Given the description of an element on the screen output the (x, y) to click on. 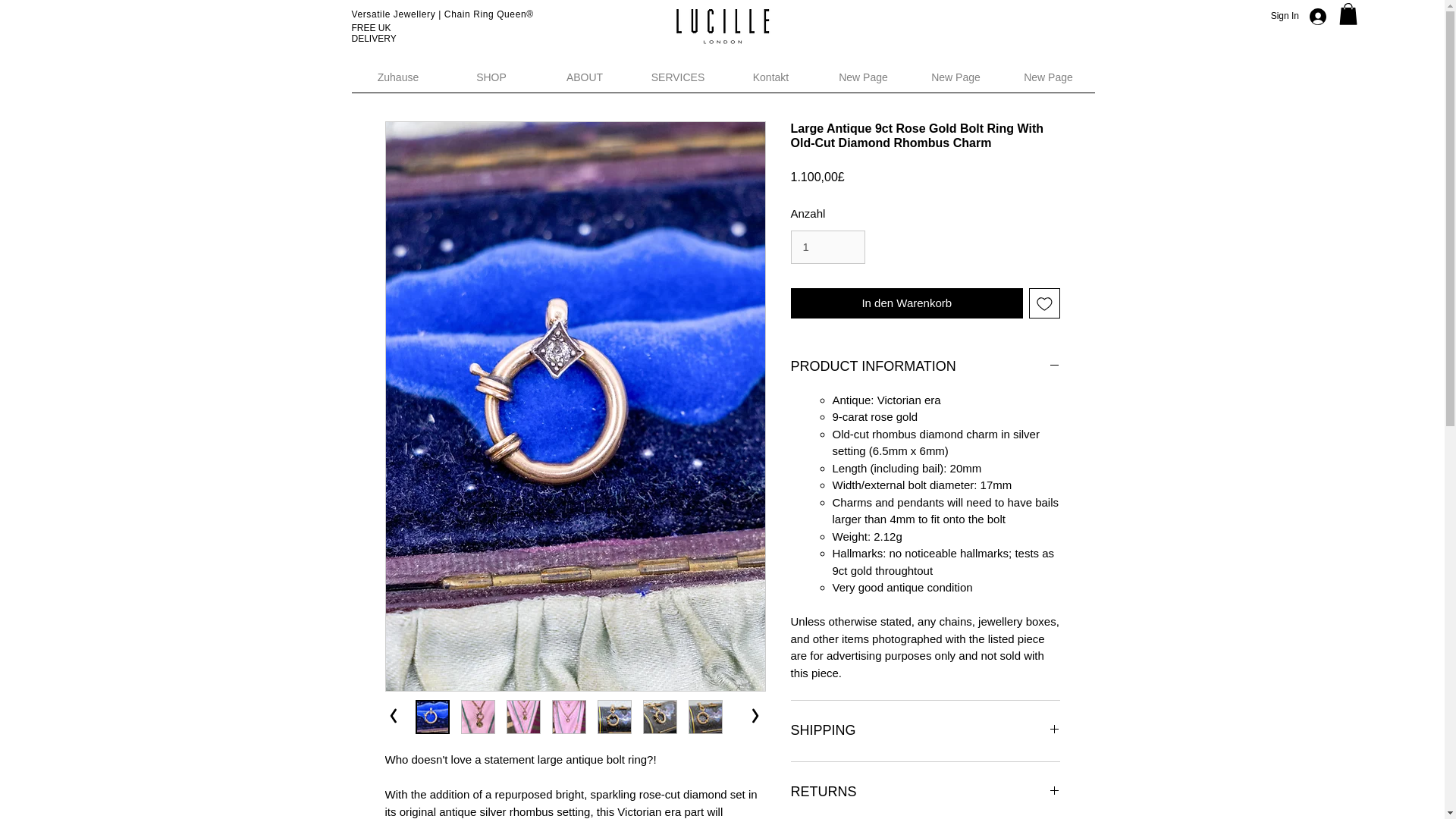
Zuhause (398, 82)
Kontakt (770, 82)
New Page (863, 82)
New Page (956, 82)
1 (827, 246)
New Page (1048, 82)
Sign In (1307, 15)
